Given the description of an element on the screen output the (x, y) to click on. 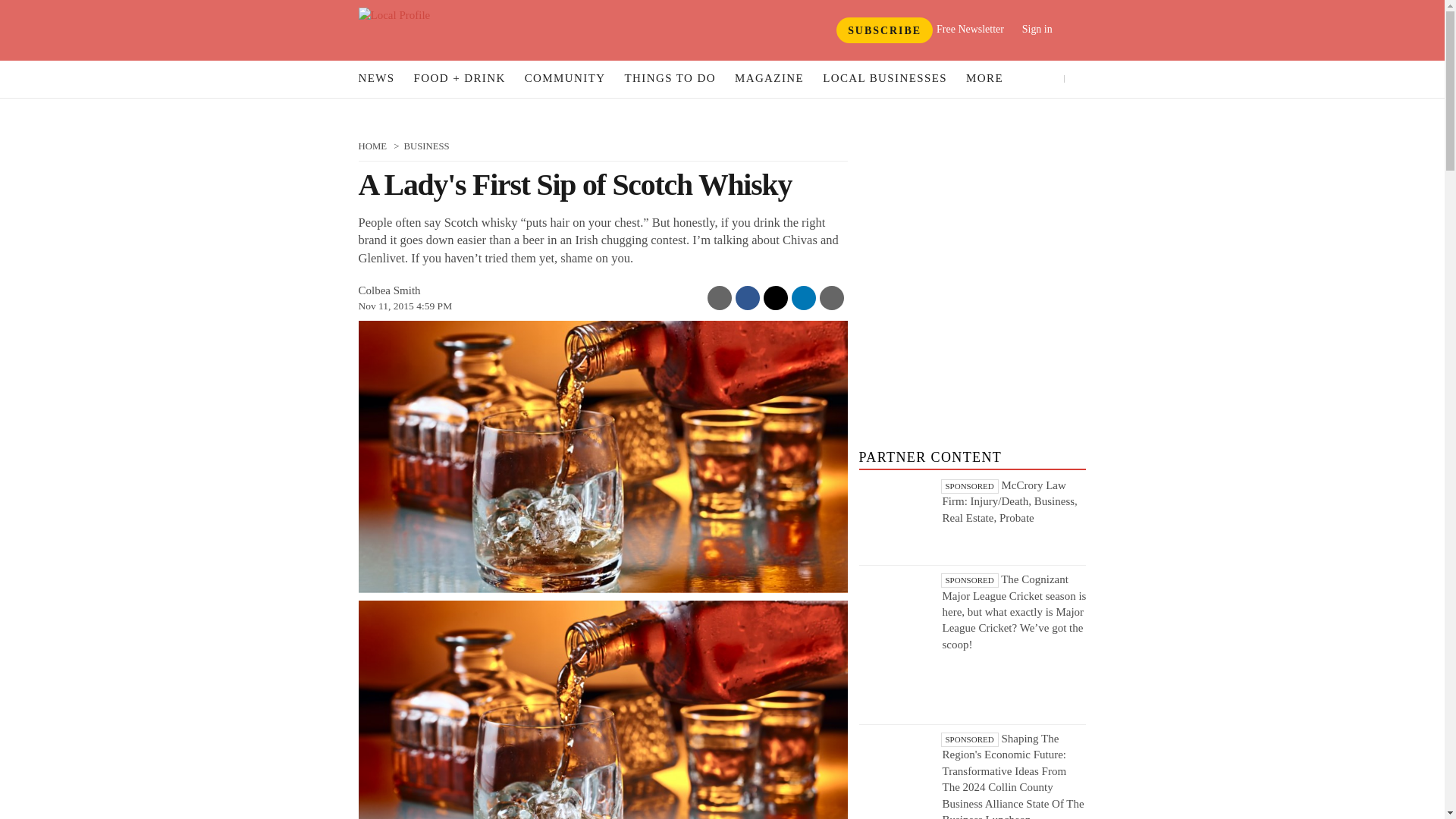
BUSINESS (425, 145)
NEWS (376, 79)
Sign in (1048, 28)
THINGS TO DO (669, 79)
Free Newsletter (970, 29)
COMMUNITY (565, 79)
MAGAZINE (769, 79)
SUBSCRIBE (884, 30)
HOME (372, 145)
LOCAL BUSINESSES (884, 79)
